Given the description of an element on the screen output the (x, y) to click on. 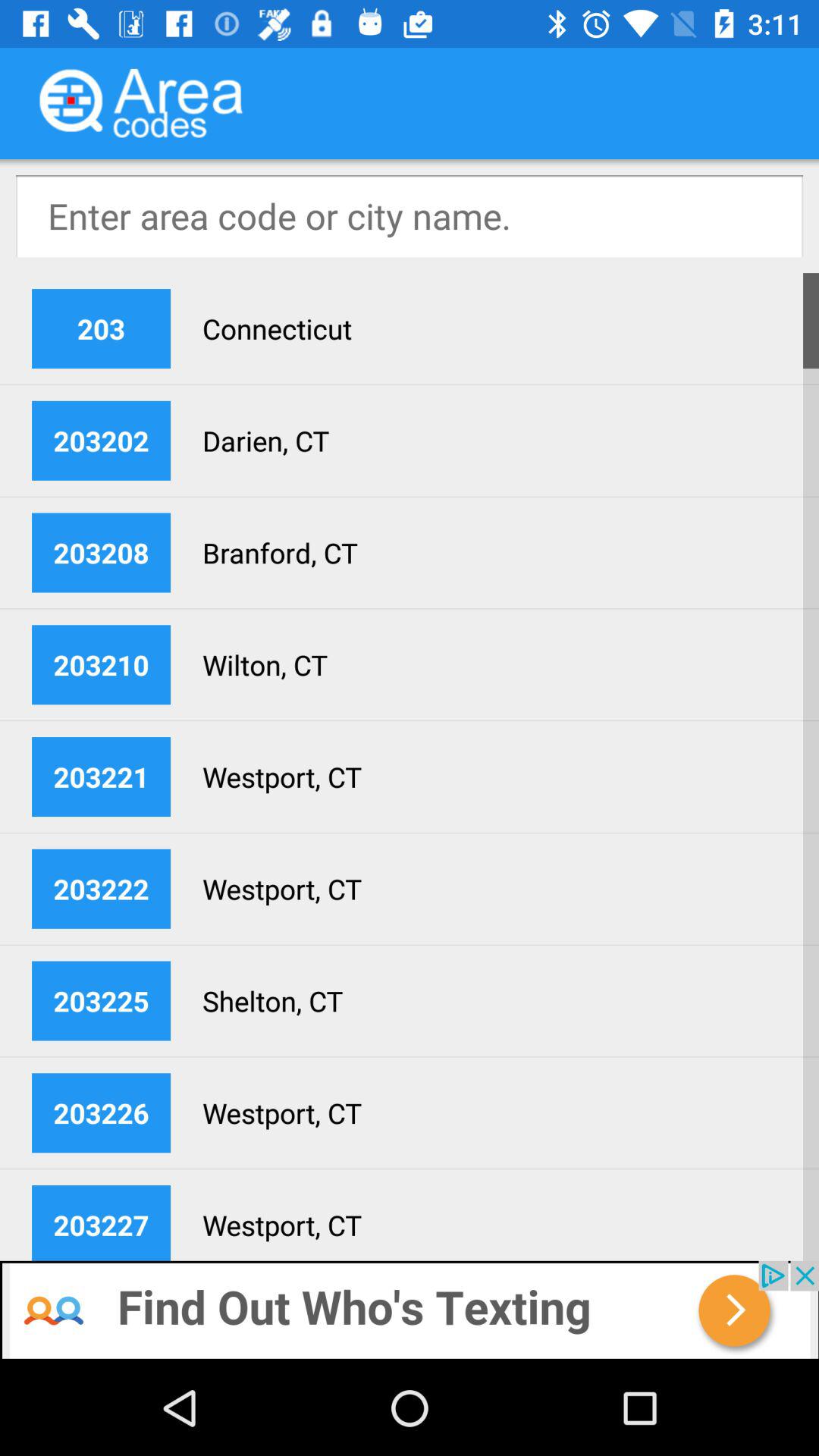
click to view advertisements options (409, 1310)
